Given the description of an element on the screen output the (x, y) to click on. 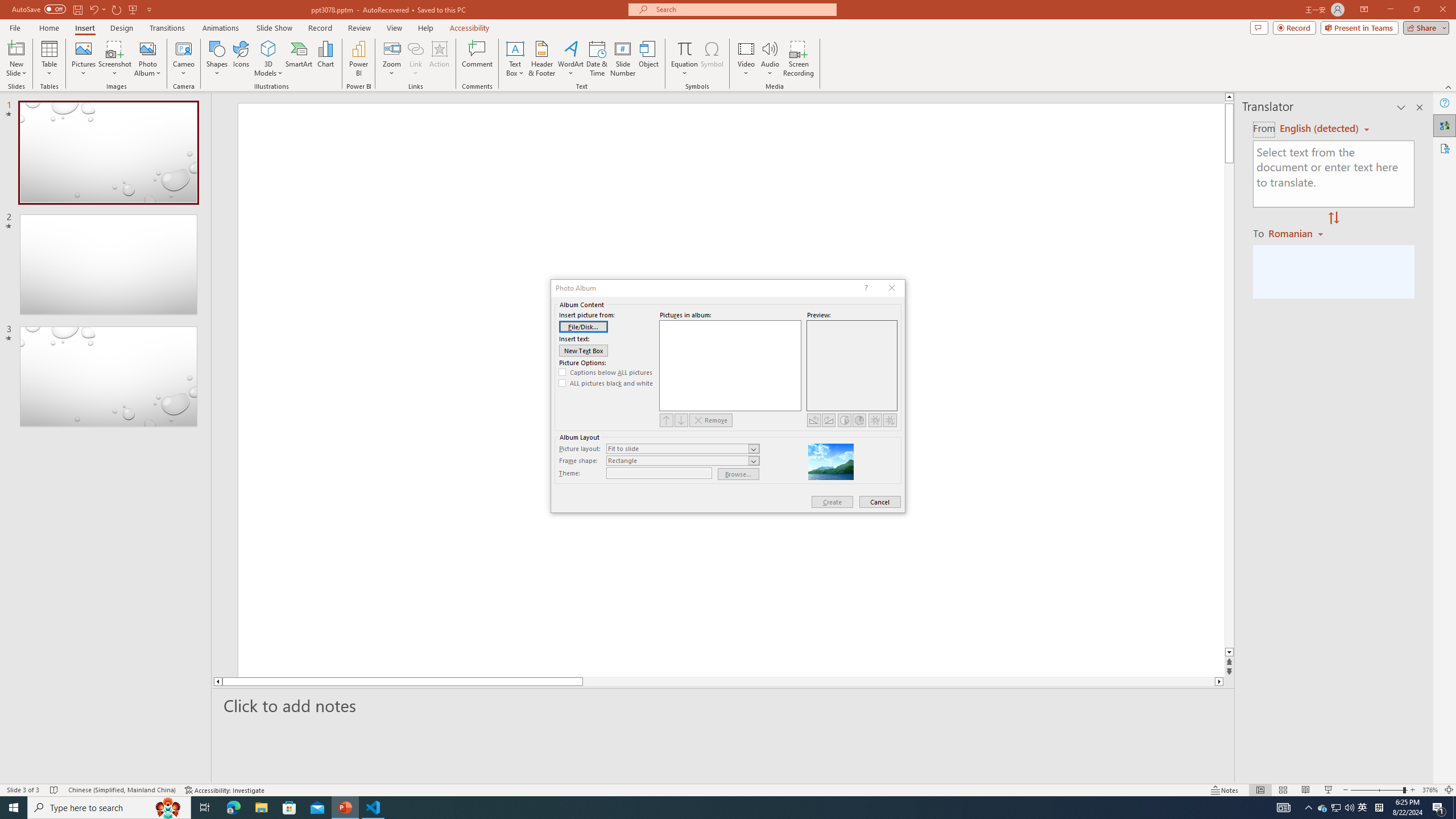
Photo Album... (147, 58)
Remove (710, 419)
Next Item (681, 419)
